Given the description of an element on the screen output the (x, y) to click on. 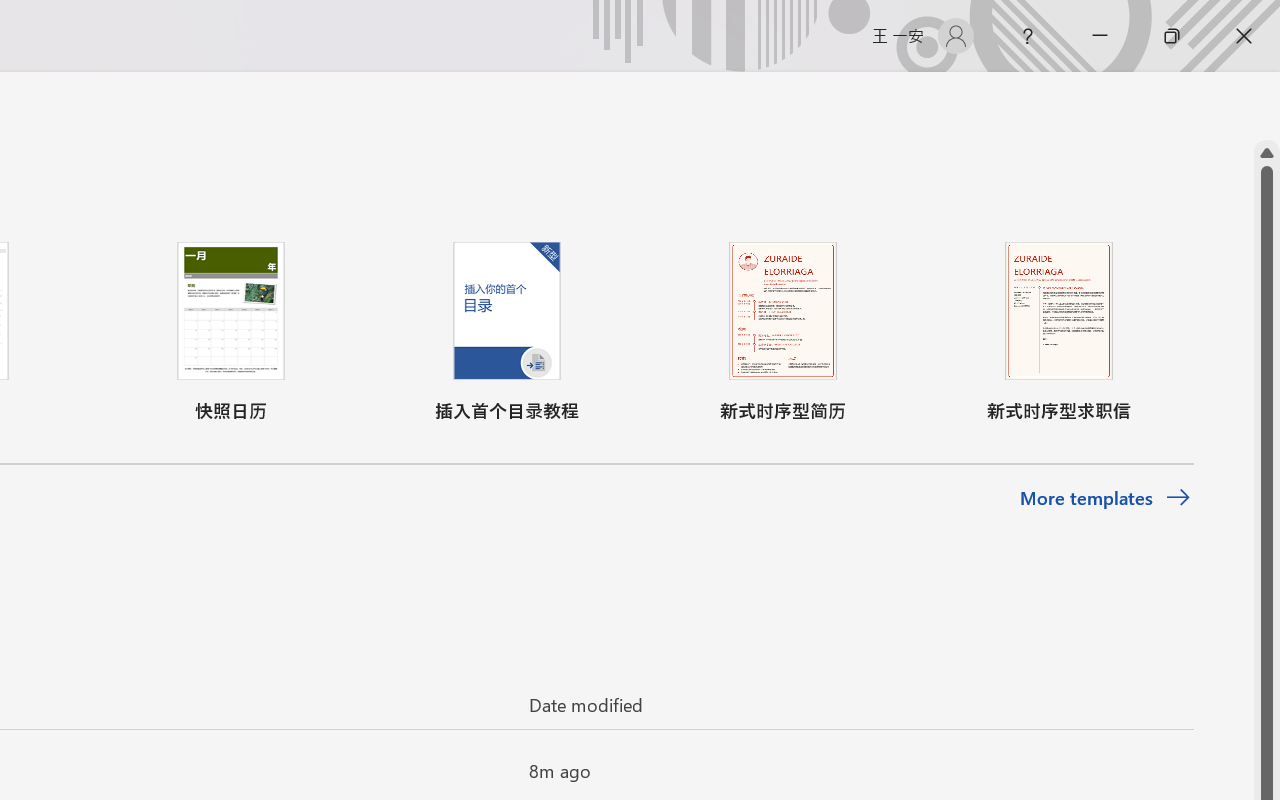
Class: NetUIScrollBar (1267, 106)
Help (1027, 36)
Line up (1267, 153)
More templates (1105, 498)
Close (1244, 36)
Restore Down (1172, 36)
Pin this item to the list (480, 770)
Minimize (1099, 36)
